Given the description of an element on the screen output the (x, y) to click on. 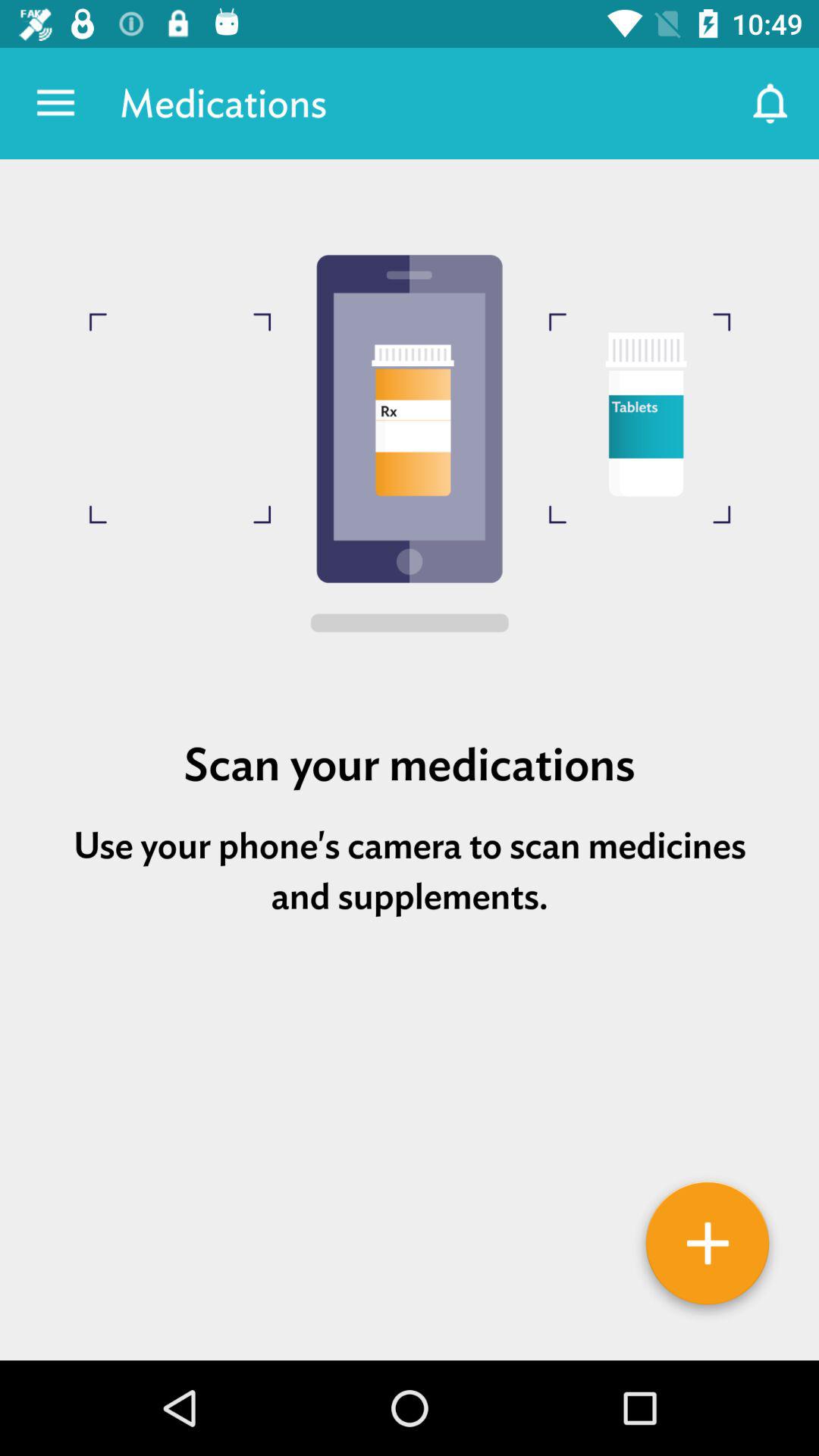
select item below the use your phone (707, 1248)
